Given the description of an element on the screen output the (x, y) to click on. 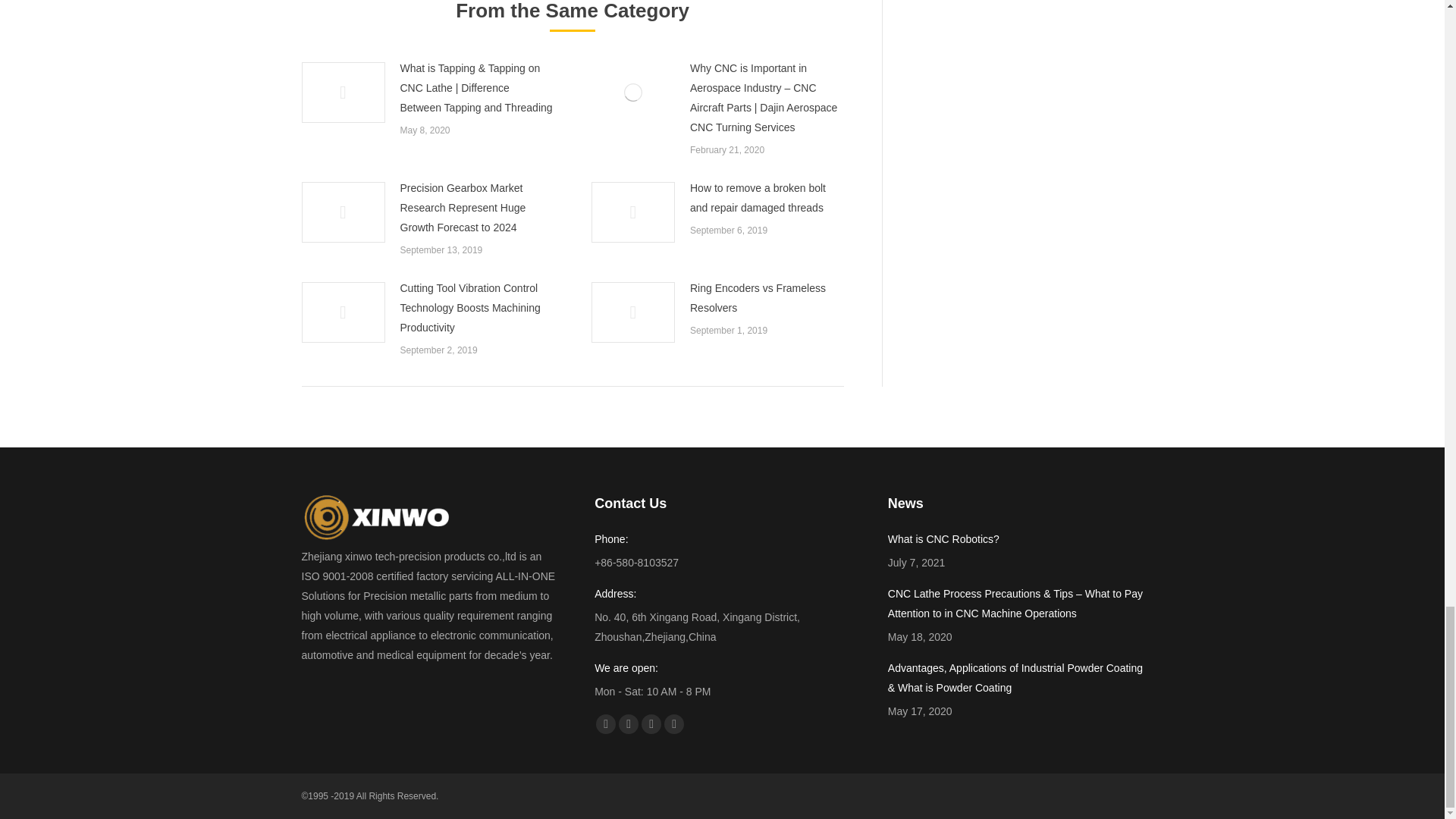
YouTube page opens in new window (628, 723)
Instagram page opens in new window (673, 723)
Linkedin page opens in new window (651, 723)
Facebook page opens in new window (605, 723)
